Given the description of an element on the screen output the (x, y) to click on. 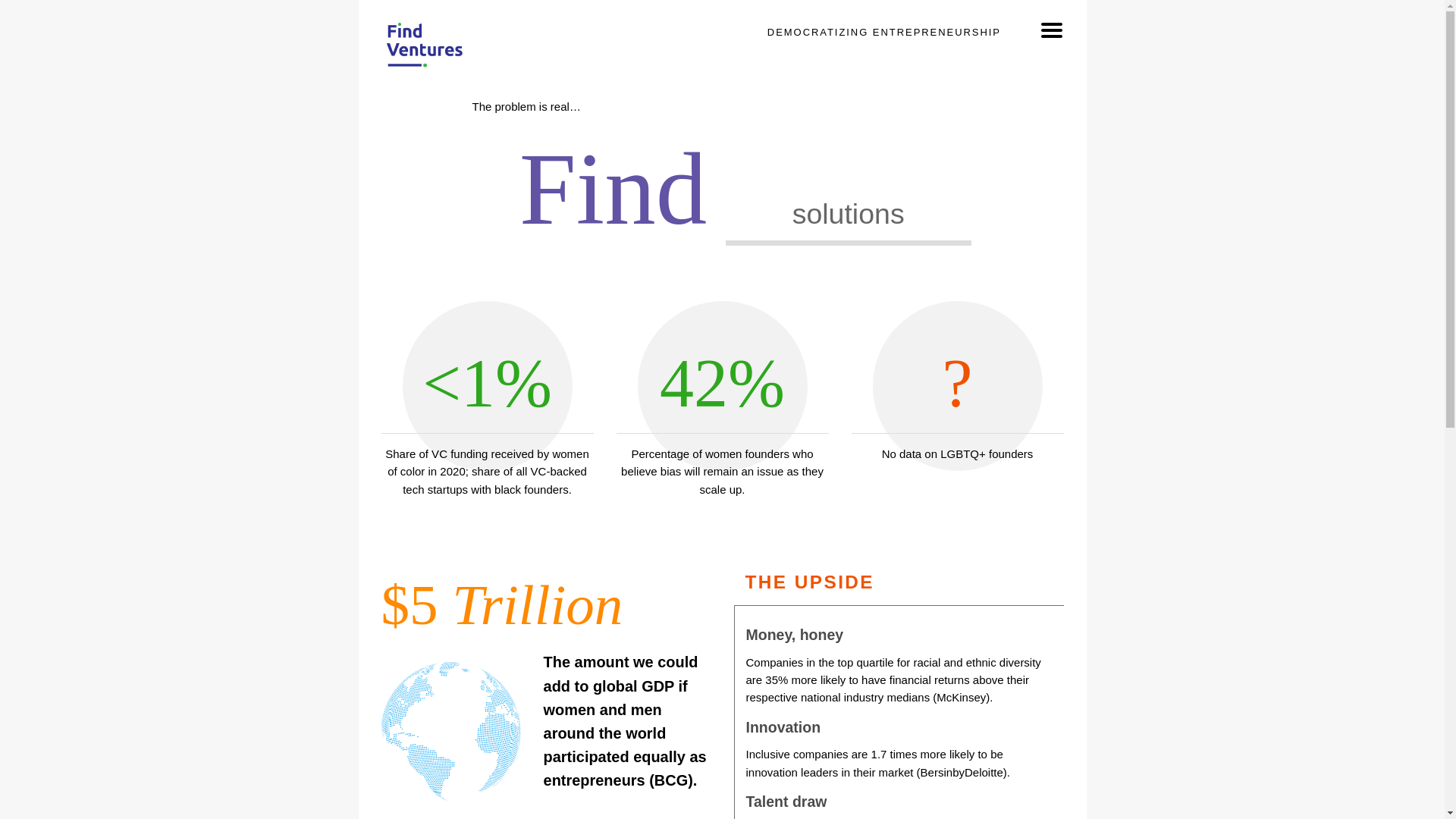
Skip to content (727, 5)
